Given the description of an element on the screen output the (x, y) to click on. 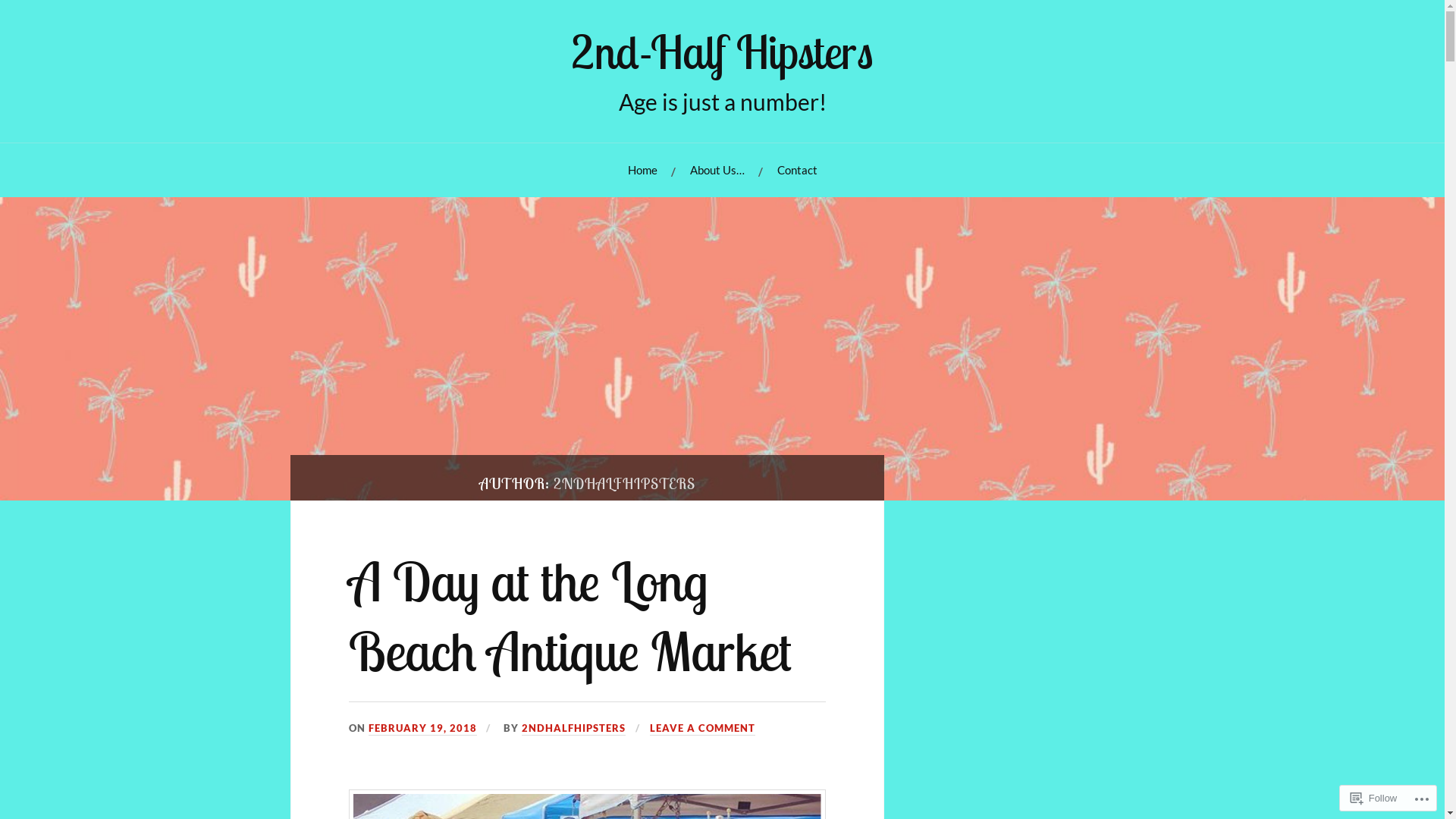
2NDHALFHIPSTERS Element type: text (573, 728)
Home Element type: text (642, 170)
2nd-Half Hipsters Element type: text (722, 51)
LEAVE A COMMENT Element type: text (702, 728)
Contact Element type: text (796, 170)
A Day at the Long Beach Antique Market Element type: text (569, 615)
FEBRUARY 19, 2018 Element type: text (422, 728)
Follow Element type: text (1373, 797)
